Given the description of an element on the screen output the (x, y) to click on. 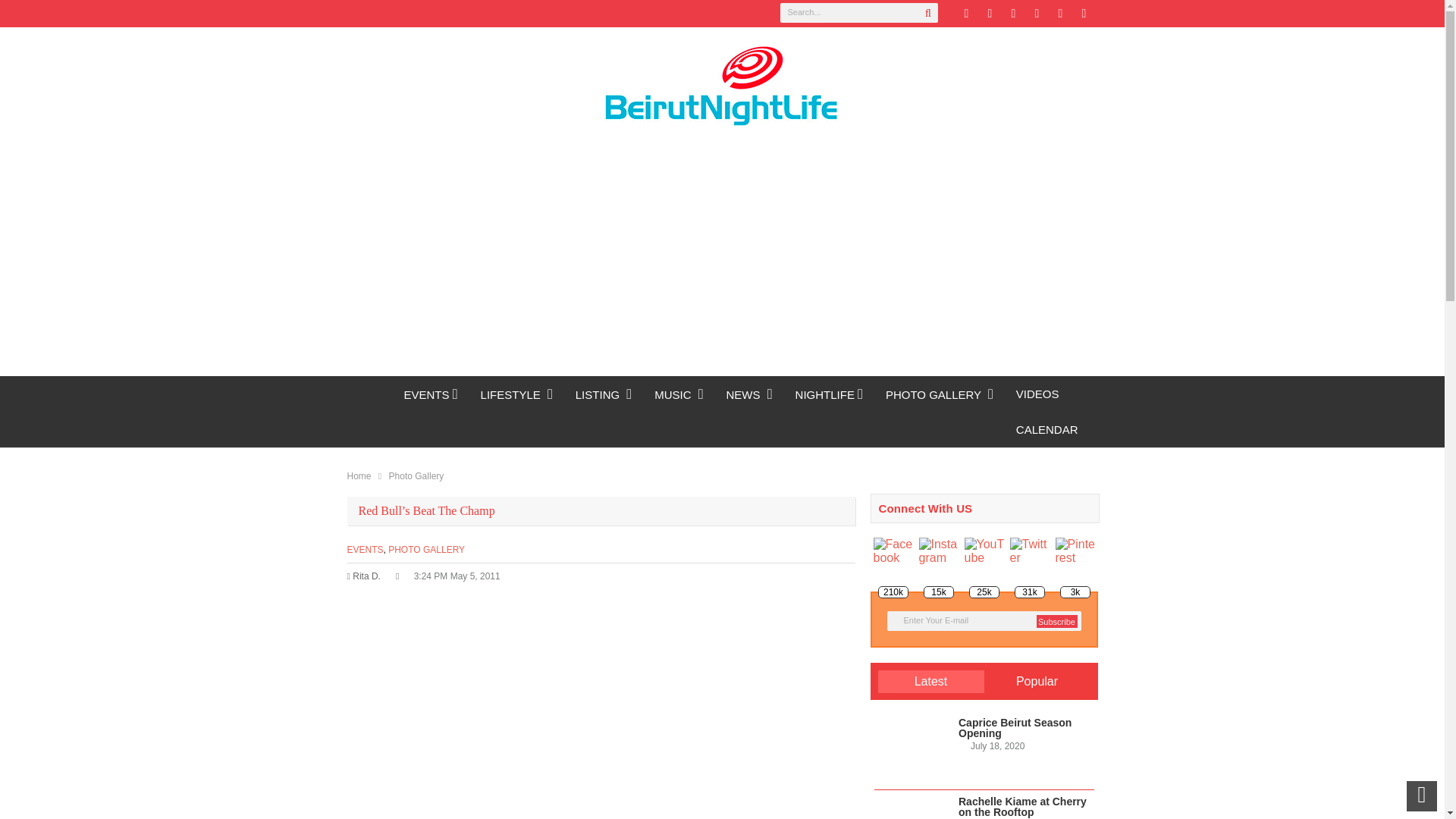
BEIRUTNIGHTLIFE :: BEIRUT THE ONLY WAY IT SHOULD BE (370, 393)
Facebook (988, 13)
Instagram (1060, 13)
Youtube (1083, 13)
LIFESTYLE (516, 394)
Enter Your E-mail (983, 620)
Search... (857, 12)
Search... (857, 12)
MUSIC (678, 394)
Twitter (966, 13)
RSS (1036, 13)
Pinterest (1013, 13)
EVENTS (430, 394)
Subscribe (1056, 621)
